Given the description of an element on the screen output the (x, y) to click on. 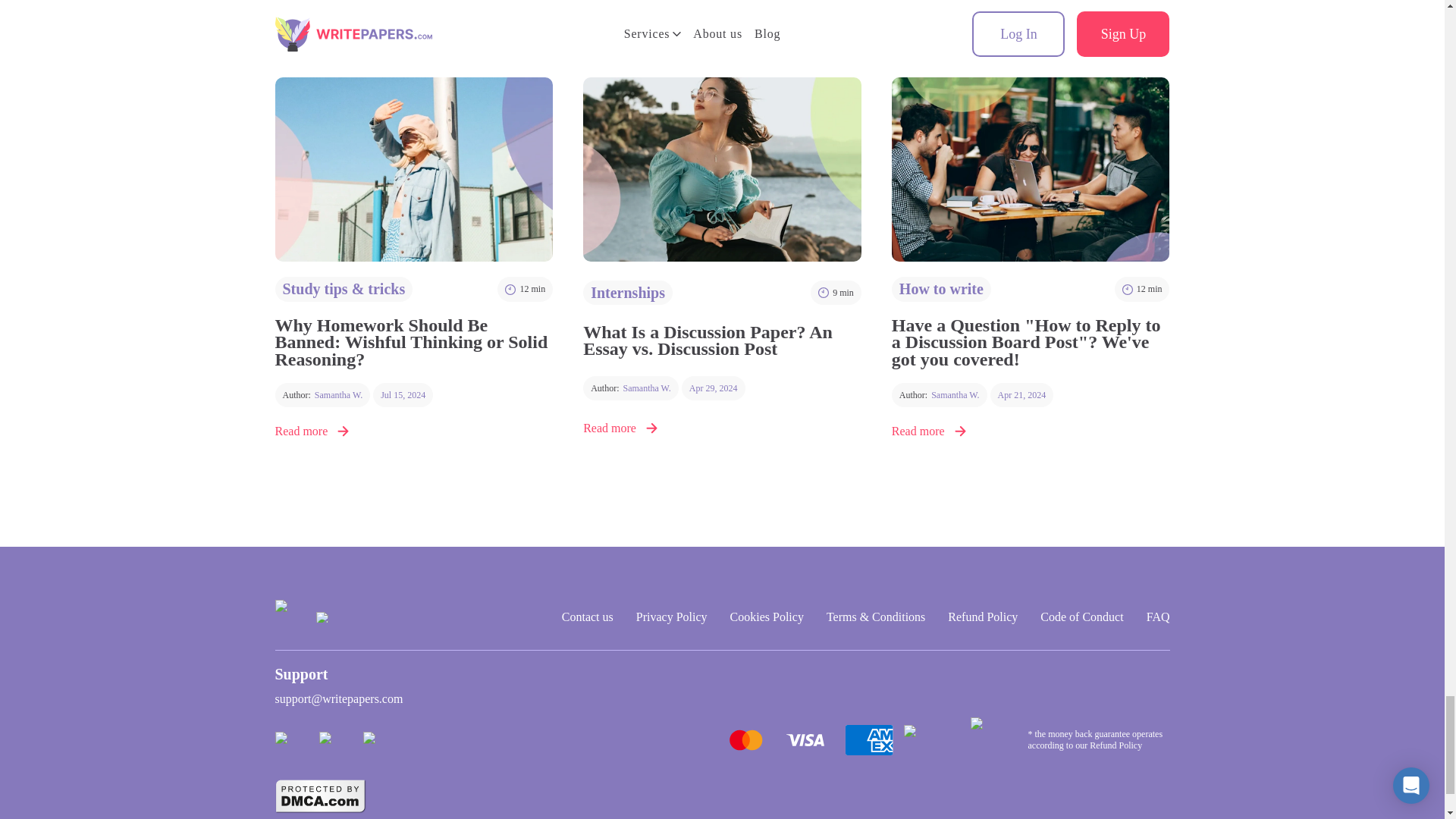
Read more (322, 395)
DMCA.com Protection Status (414, 431)
